Given the description of an element on the screen output the (x, y) to click on. 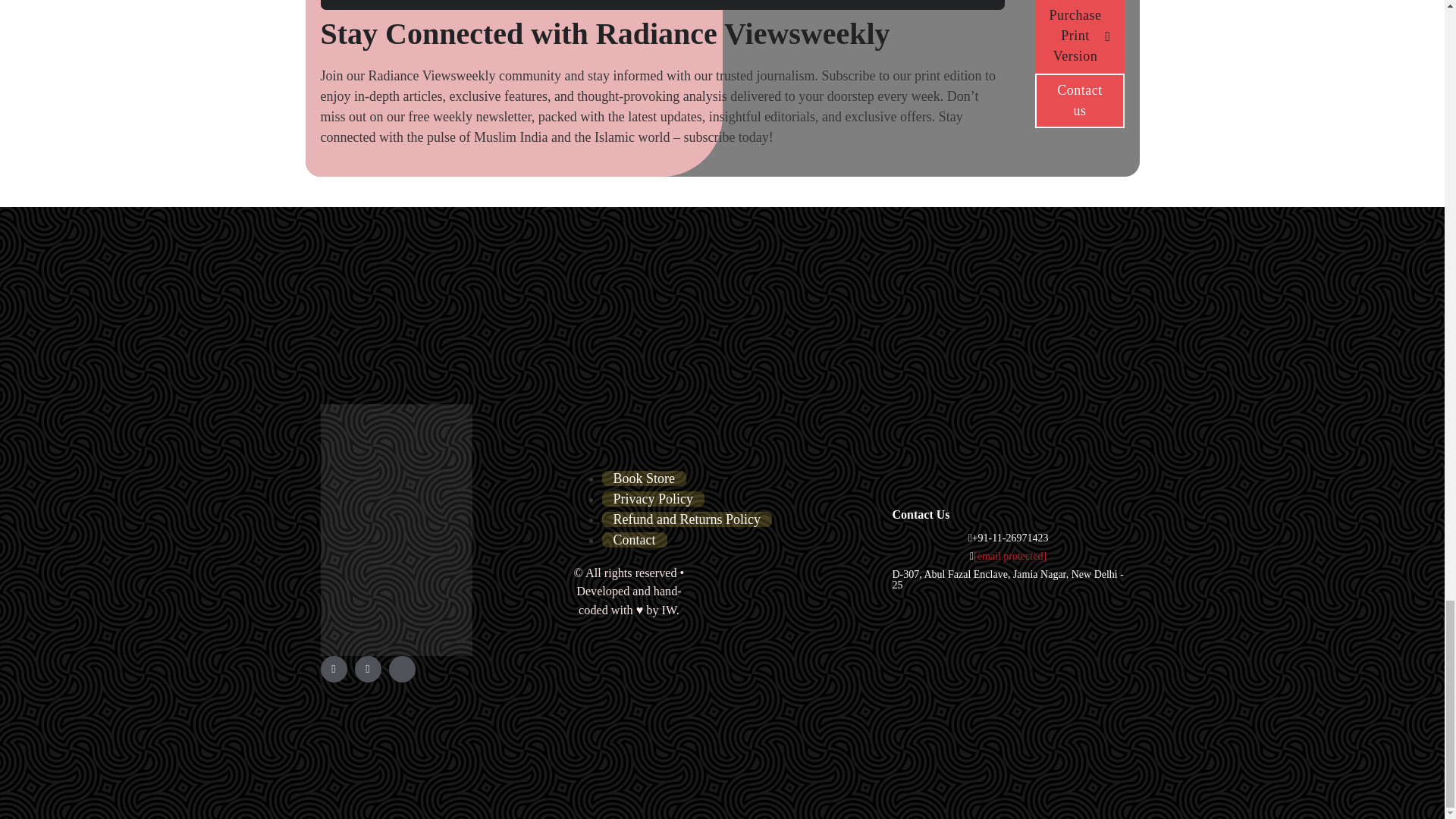
Book Store (644, 478)
Privacy Policy (653, 498)
Contact us (1079, 100)
Purchase Print Version (1079, 36)
